Given the description of an element on the screen output the (x, y) to click on. 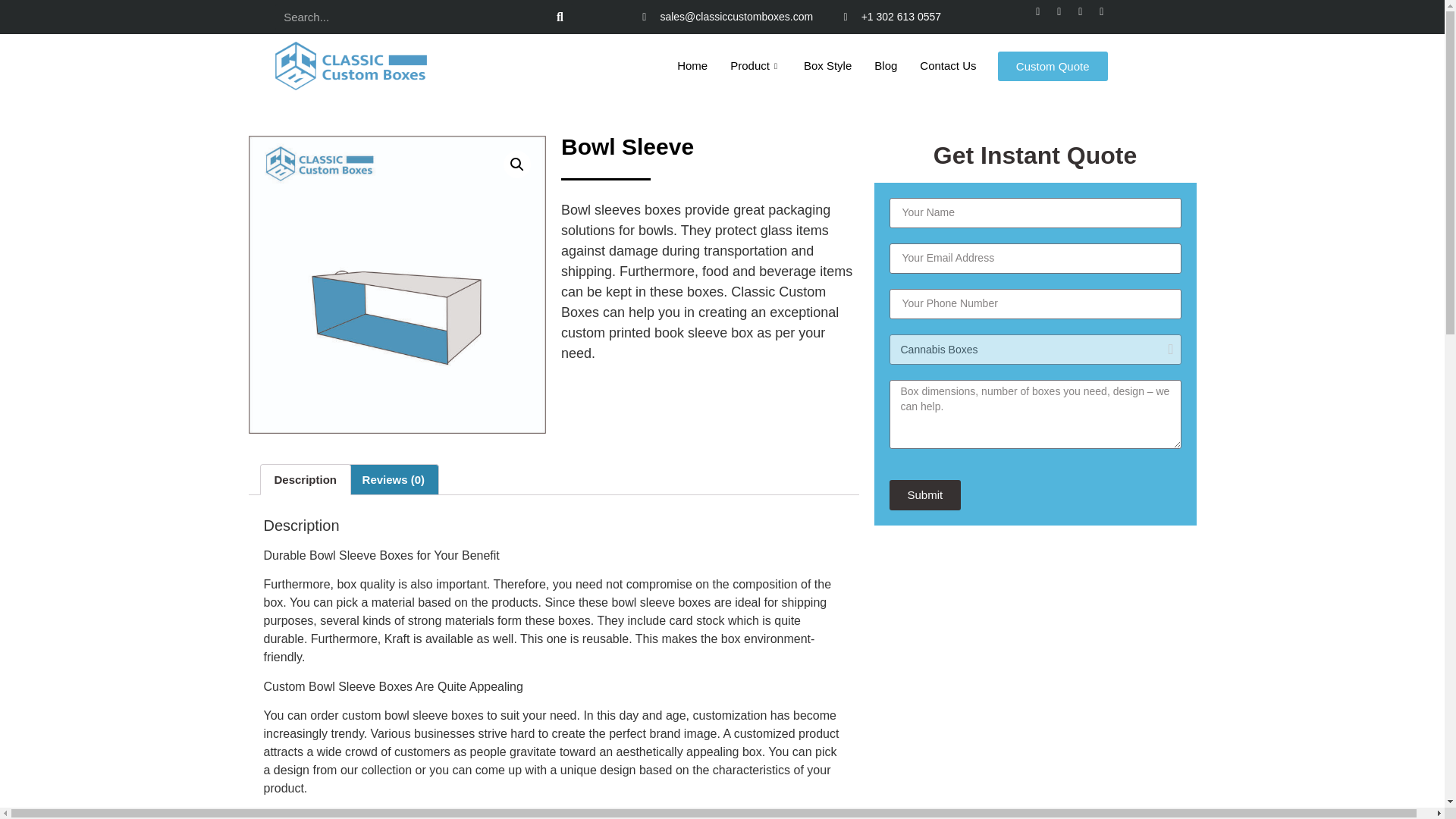
Home (692, 65)
Search (410, 17)
Product (755, 65)
Search (560, 17)
35 (397, 284)
